Given the description of an element on the screen output the (x, y) to click on. 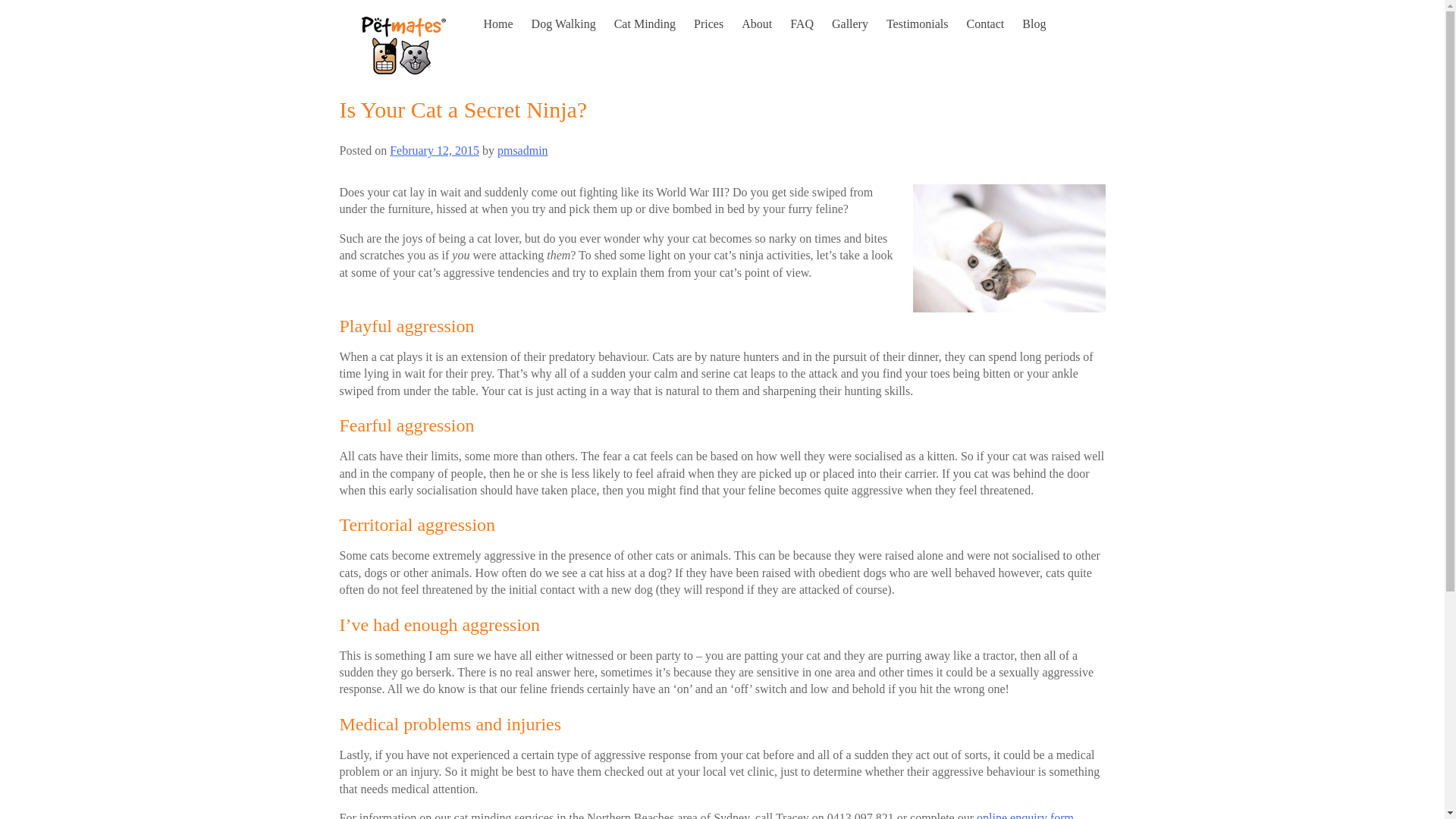
Prices (708, 24)
Home (498, 24)
About (756, 24)
Testimonials (917, 24)
FAQ (801, 24)
online enquiry form (1025, 815)
Blog (1033, 24)
Dog Walking (563, 24)
Gallery (849, 24)
pmsadmin (522, 150)
Cat Minding (644, 24)
February 12, 2015 (434, 150)
Contact (985, 24)
